Given the description of an element on the screen output the (x, y) to click on. 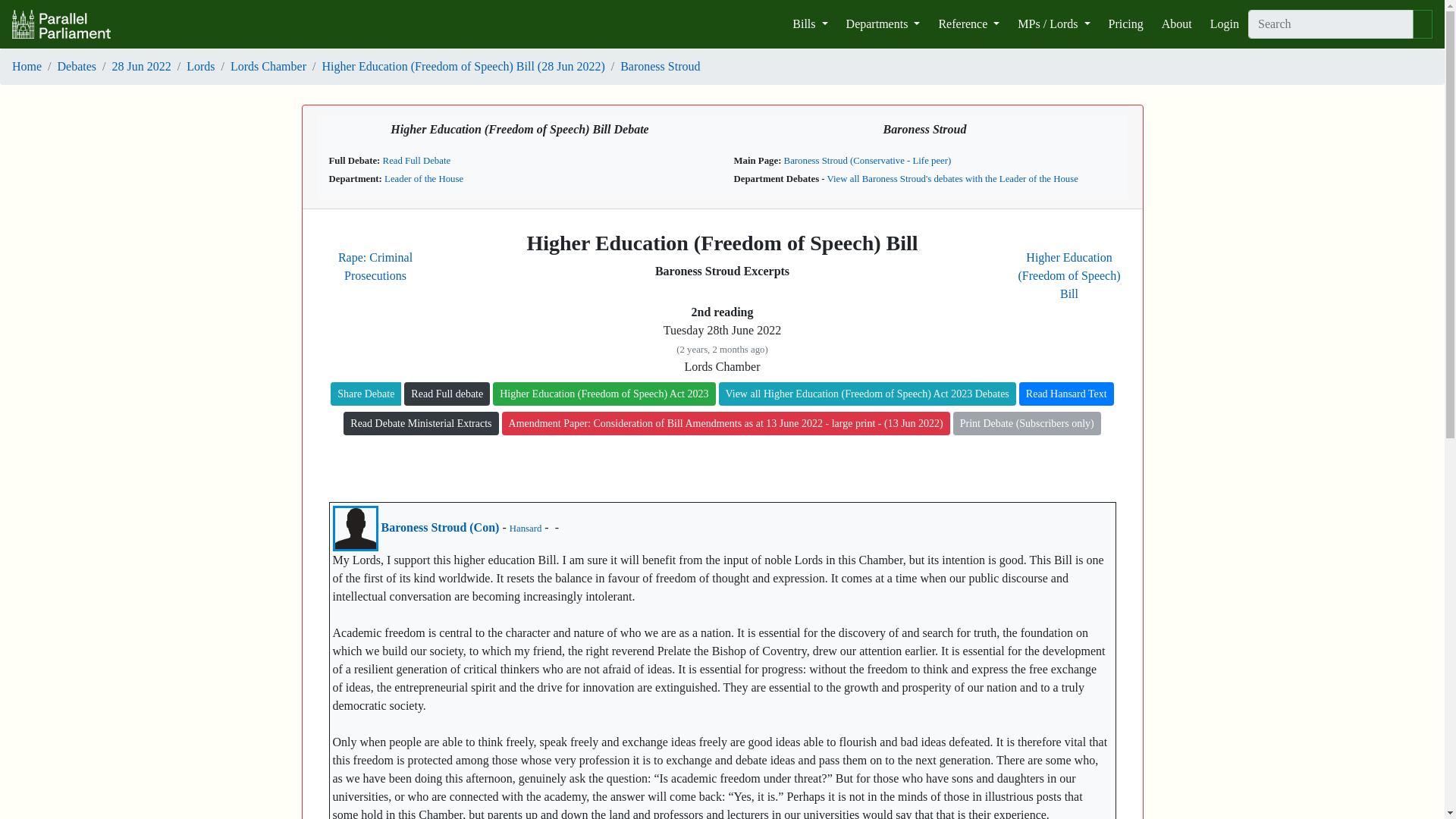
Reference (968, 24)
Departments (883, 24)
Bills (809, 24)
